Given the description of an element on the screen output the (x, y) to click on. 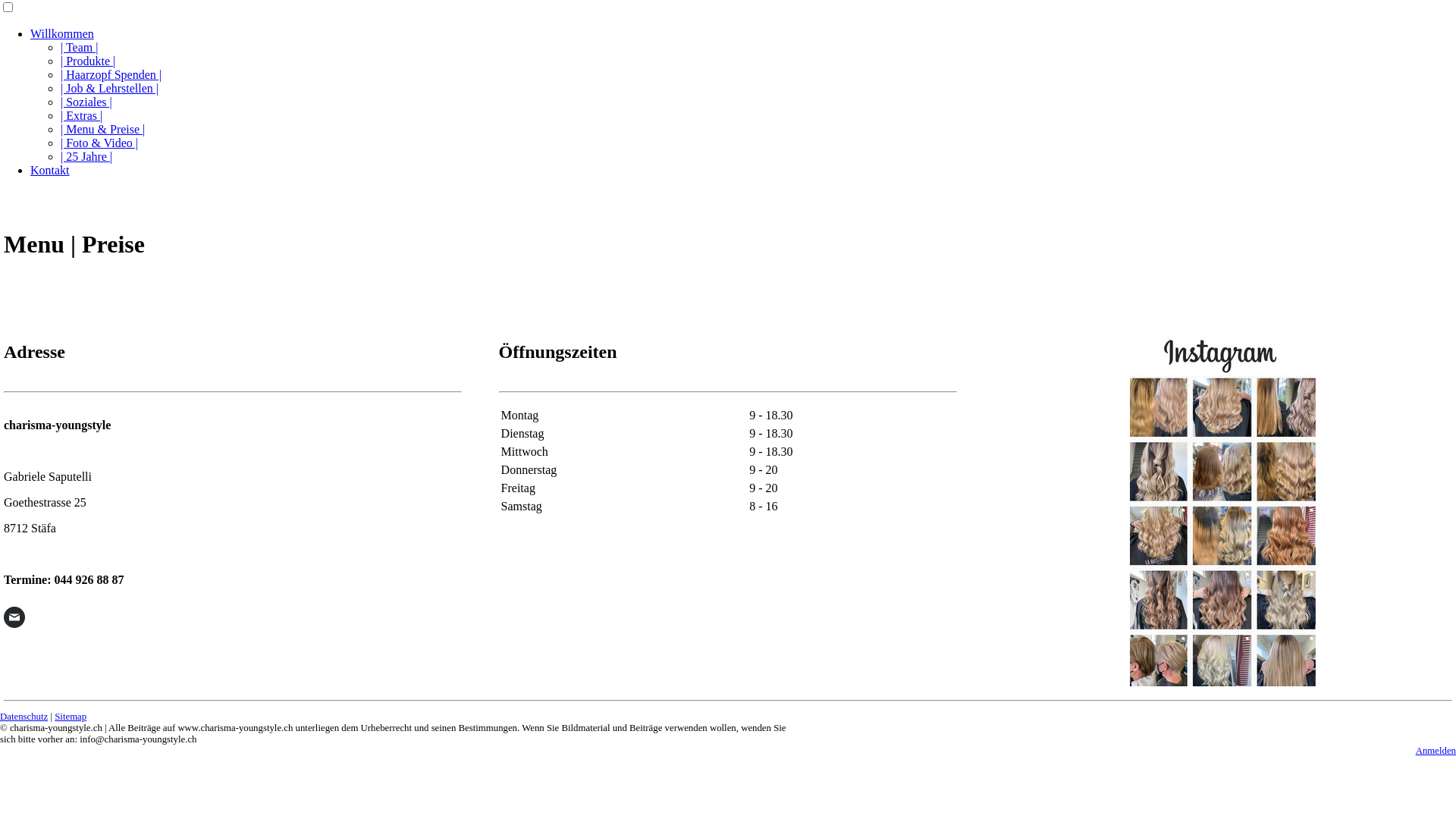
| Team | Element type: text (78, 46)
| Menu & Preise | Element type: text (102, 128)
| Job & Lehrstellen | Element type: text (109, 87)
| Soziales | Element type: text (86, 101)
| Haarzopf Spenden | Element type: text (110, 74)
| 25 Jahre | Element type: text (86, 156)
| Foto & Video | Element type: text (99, 142)
| Produkte | Element type: text (87, 60)
Sitemap Element type: text (70, 716)
| Extras | Element type: text (81, 115)
Willkommen Element type: text (62, 33)
E-Mail Element type: hover (14, 616)
Kontakt Element type: text (49, 169)
Datenschutz Element type: text (23, 716)
